Given the description of an element on the screen output the (x, y) to click on. 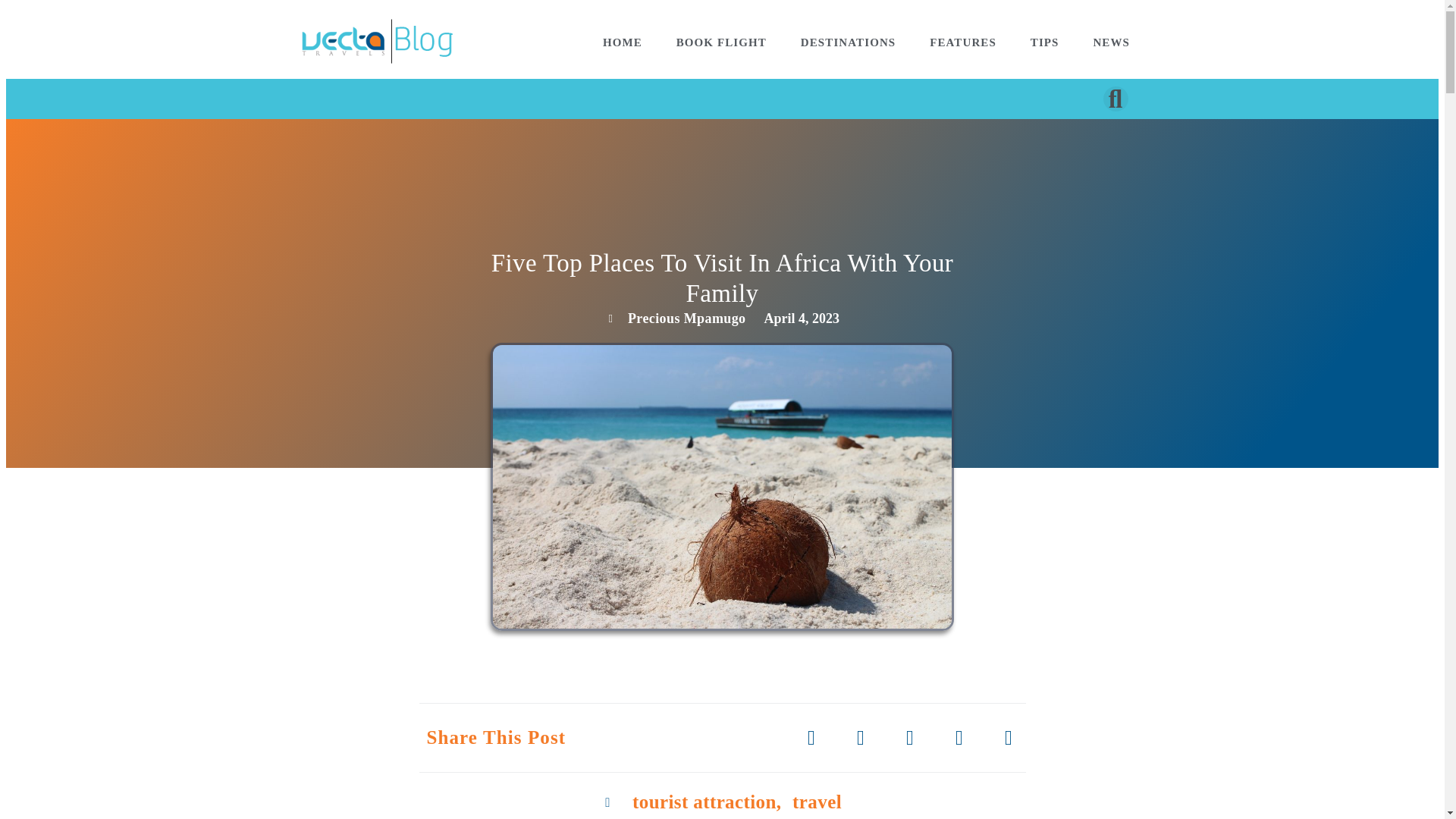
Precious Mpamugo (675, 319)
FEATURES (962, 42)
DESTINATIONS (847, 42)
HOME (622, 42)
tourist attraction (703, 801)
BOOK FLIGHT (721, 42)
TIPS (1044, 42)
travel (816, 801)
Five Top Places To Visit In Africa With Your Family (722, 278)
NEWS (1111, 42)
